Given the description of an element on the screen output the (x, y) to click on. 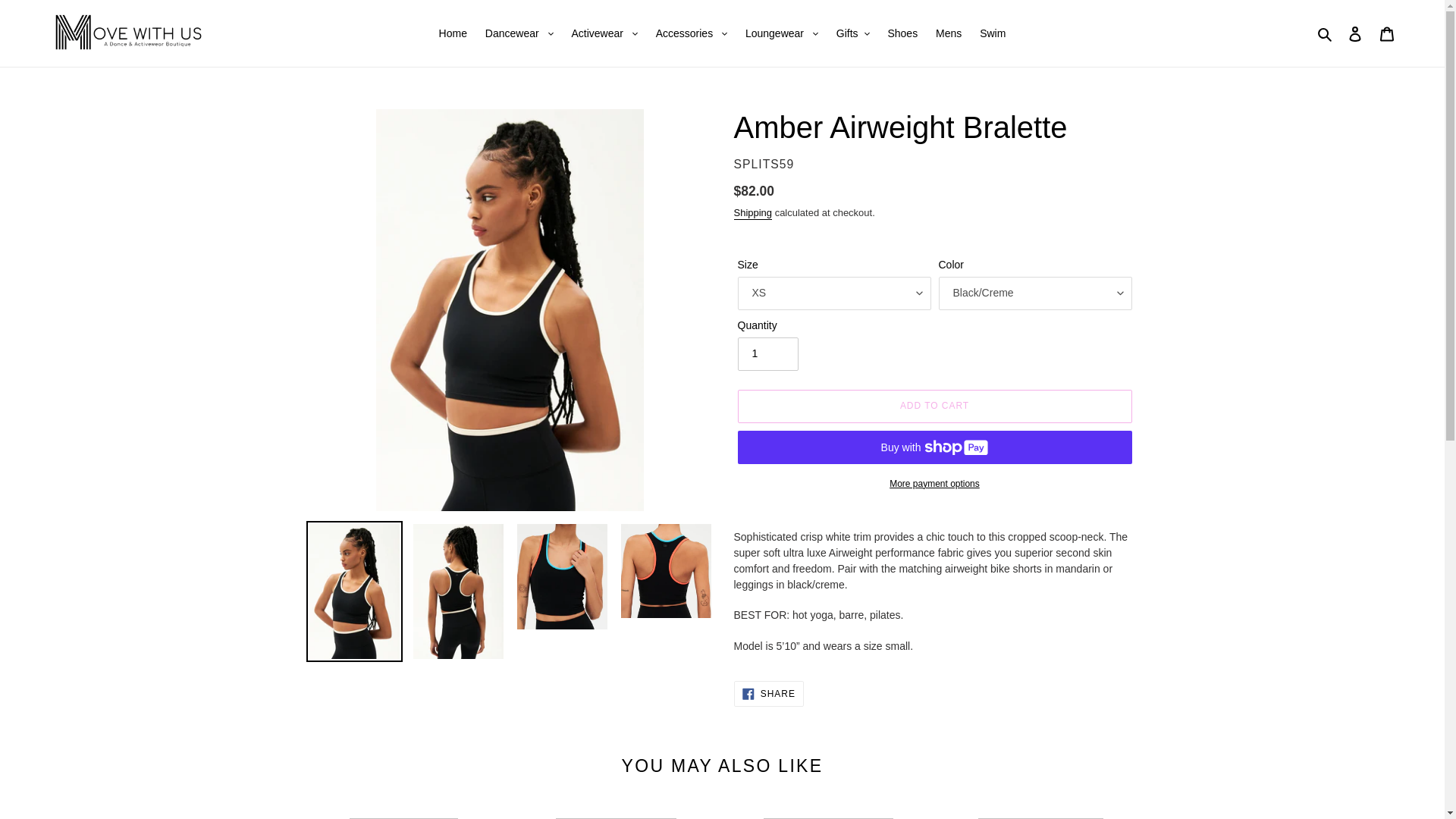
Dancewear (518, 32)
Shoes (901, 32)
1 (766, 354)
Accessories (691, 32)
Loungewear (781, 32)
Home (452, 32)
Gifts (852, 32)
Activewear (604, 32)
